Given the description of an element on the screen output the (x, y) to click on. 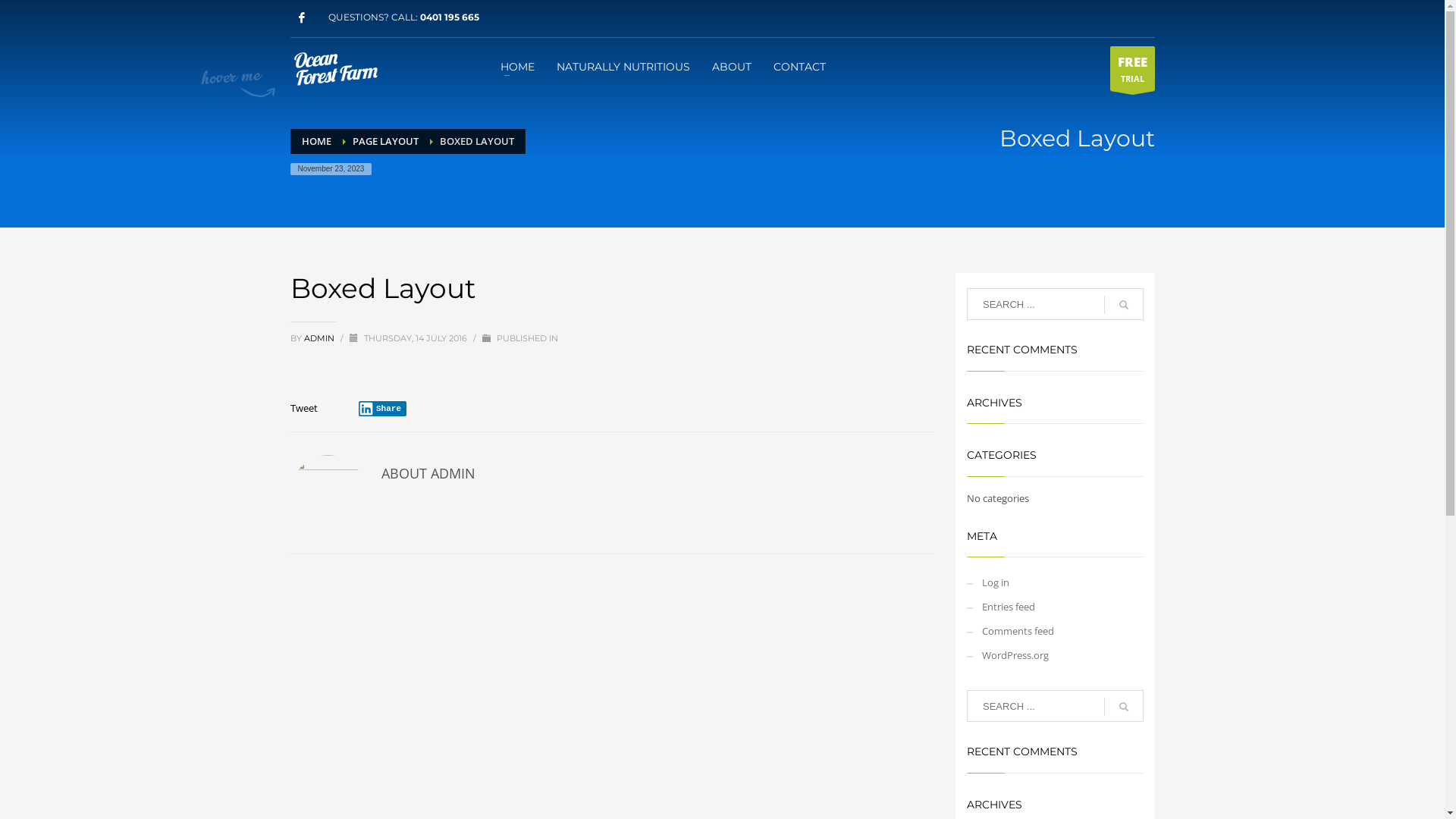
Premium Nutritious Raw Dog Food Element type: hover (336, 66)
Comments feed Element type: text (1054, 630)
Facebook Element type: hover (300, 17)
CONTACT Element type: text (799, 65)
Log in Element type: text (1054, 582)
FREE
TRIAL Element type: text (1132, 67)
ADMIN Element type: text (319, 337)
HOME Element type: text (517, 65)
ABOUT Element type: text (731, 65)
Share Element type: text (381, 408)
go Element type: text (1123, 304)
WordPress.org Element type: text (1054, 655)
go Element type: text (1123, 706)
HOME Element type: text (316, 140)
NATURALLY NUTRITIOUS Element type: text (623, 65)
PAGE LAYOUT Element type: text (384, 140)
0401 195 665 Element type: text (449, 16)
Entries feed Element type: text (1054, 606)
Tweet Element type: text (302, 407)
